Given the description of an element on the screen output the (x, y) to click on. 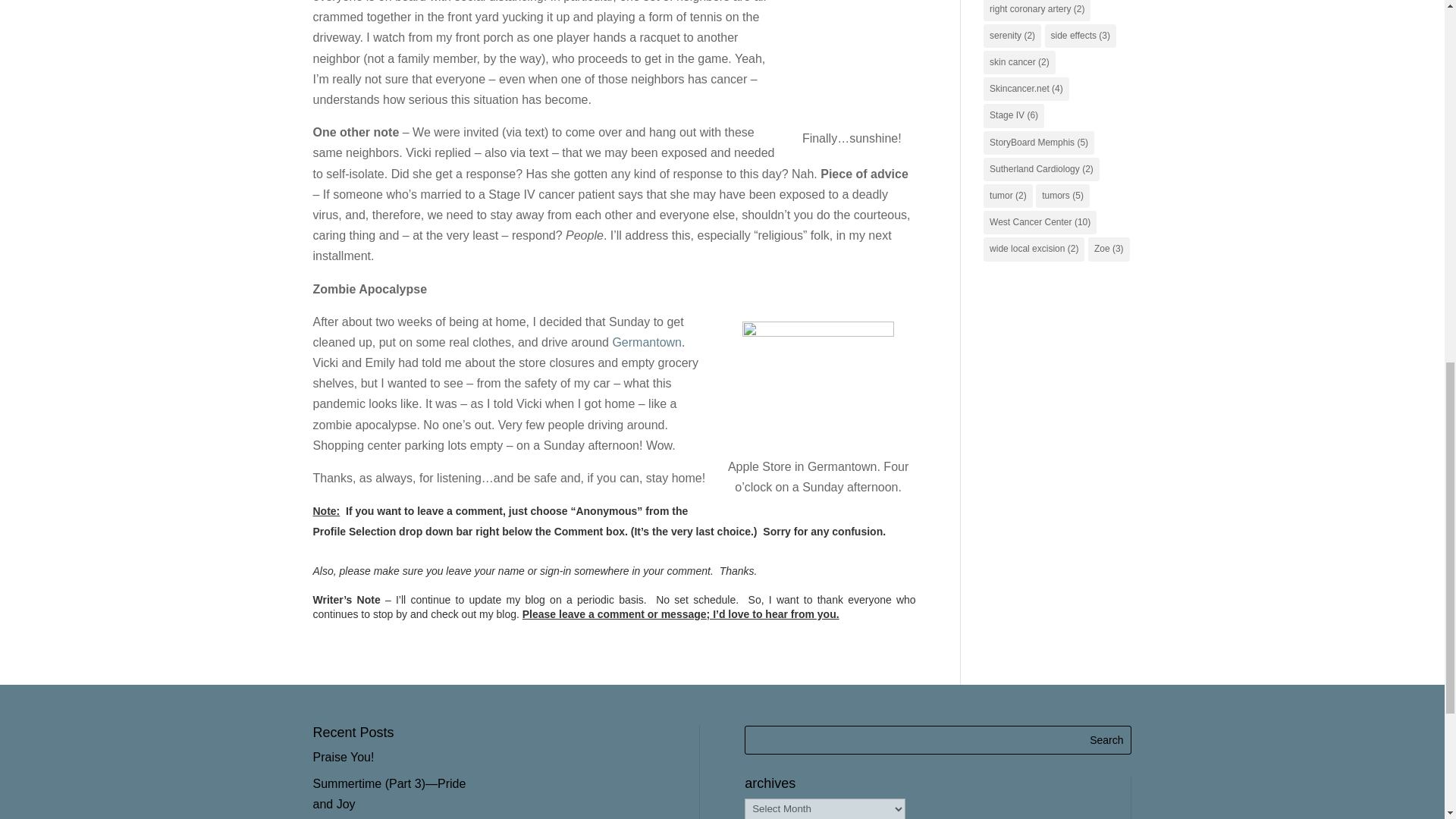
Search (1106, 739)
Germantown (646, 341)
Search (1106, 739)
